Given the description of an element on the screen output the (x, y) to click on. 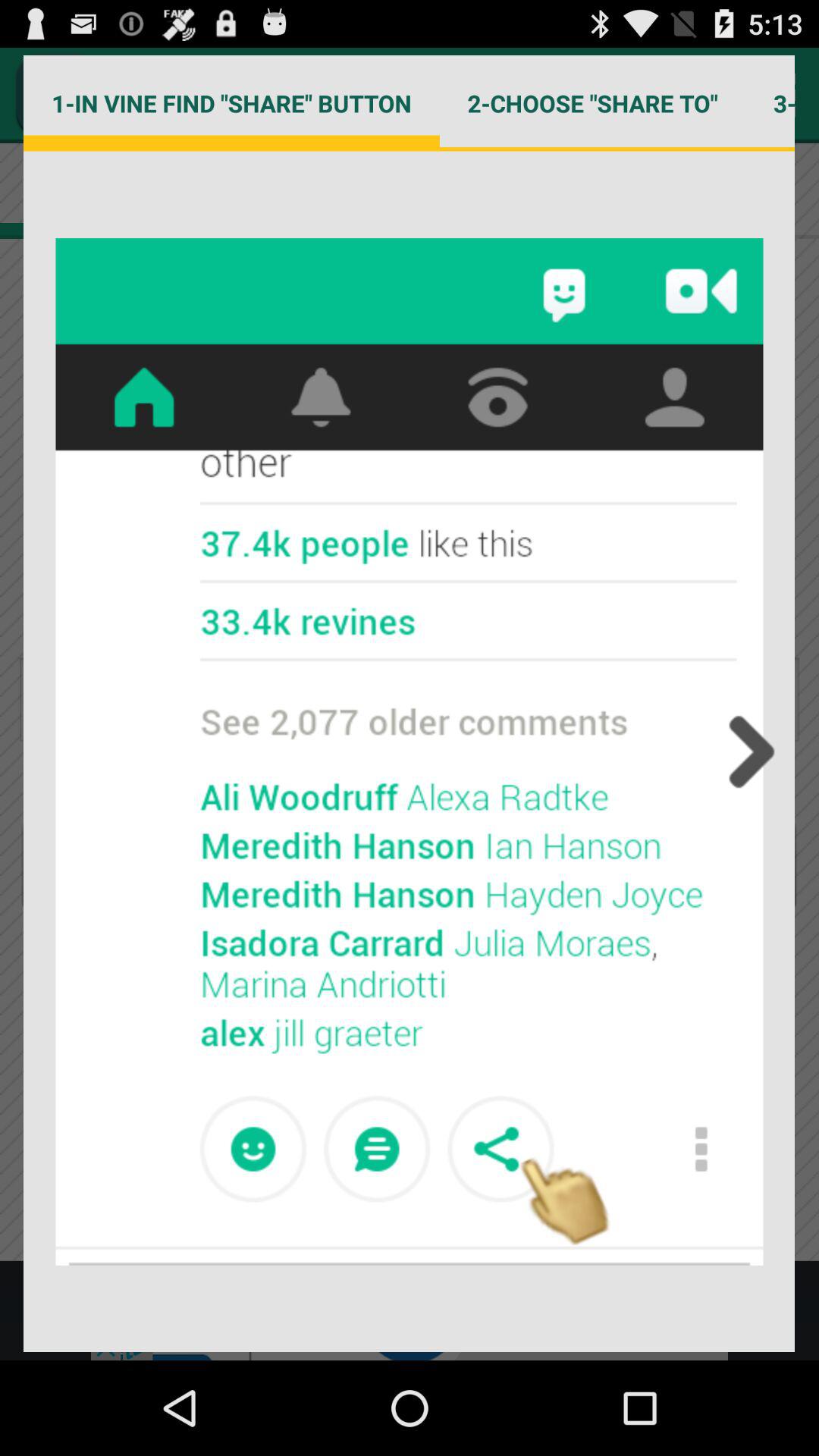
turn on the app to the left of the 3-choose vdownloadr app (592, 103)
